Given the description of an element on the screen output the (x, y) to click on. 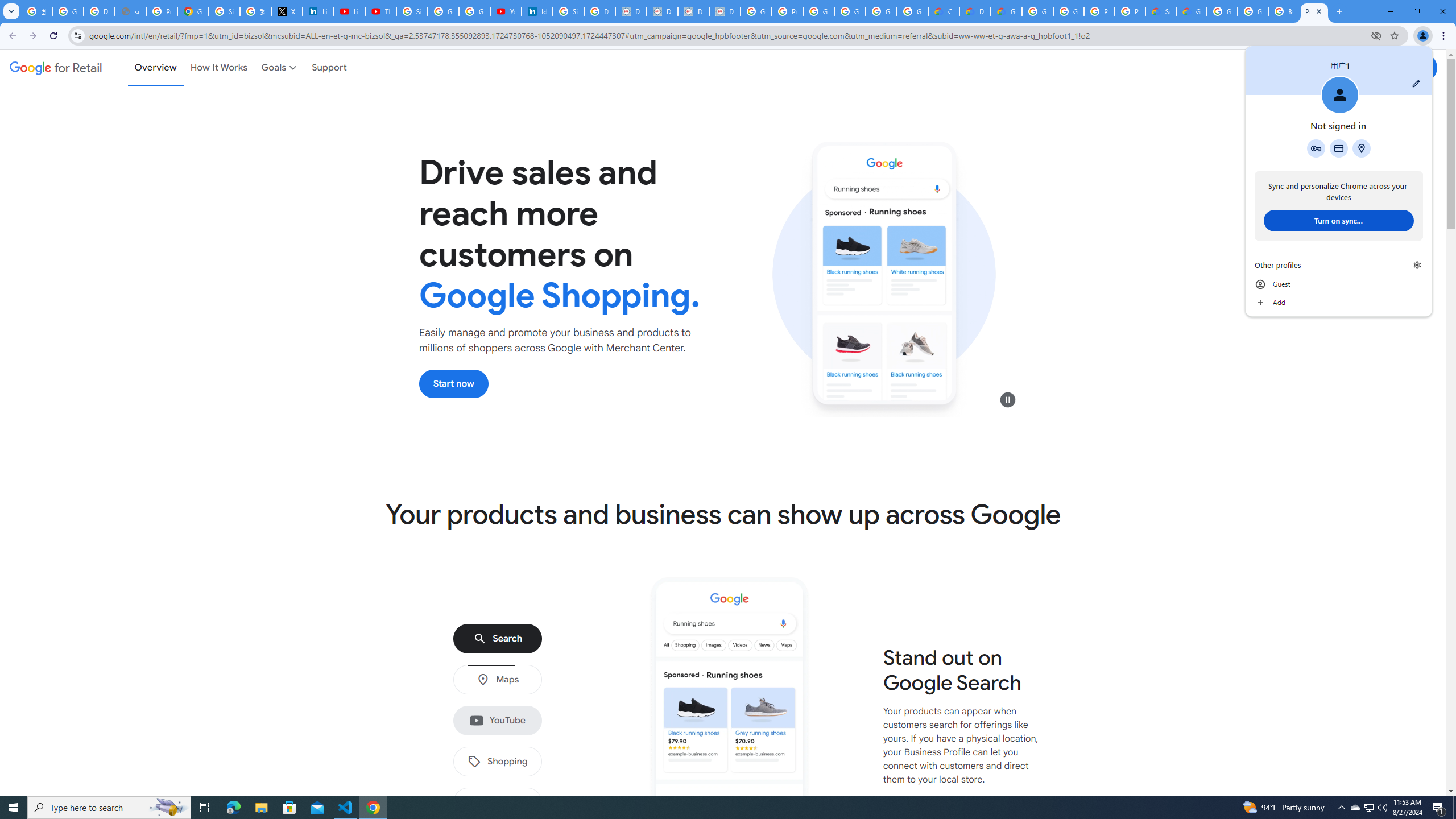
Sign in - Google Accounts (223, 11)
Google Cloud Service Health (1190, 11)
Support (328, 67)
Google Workspace - Specific Terms (912, 11)
